Given the description of an element on the screen output the (x, y) to click on. 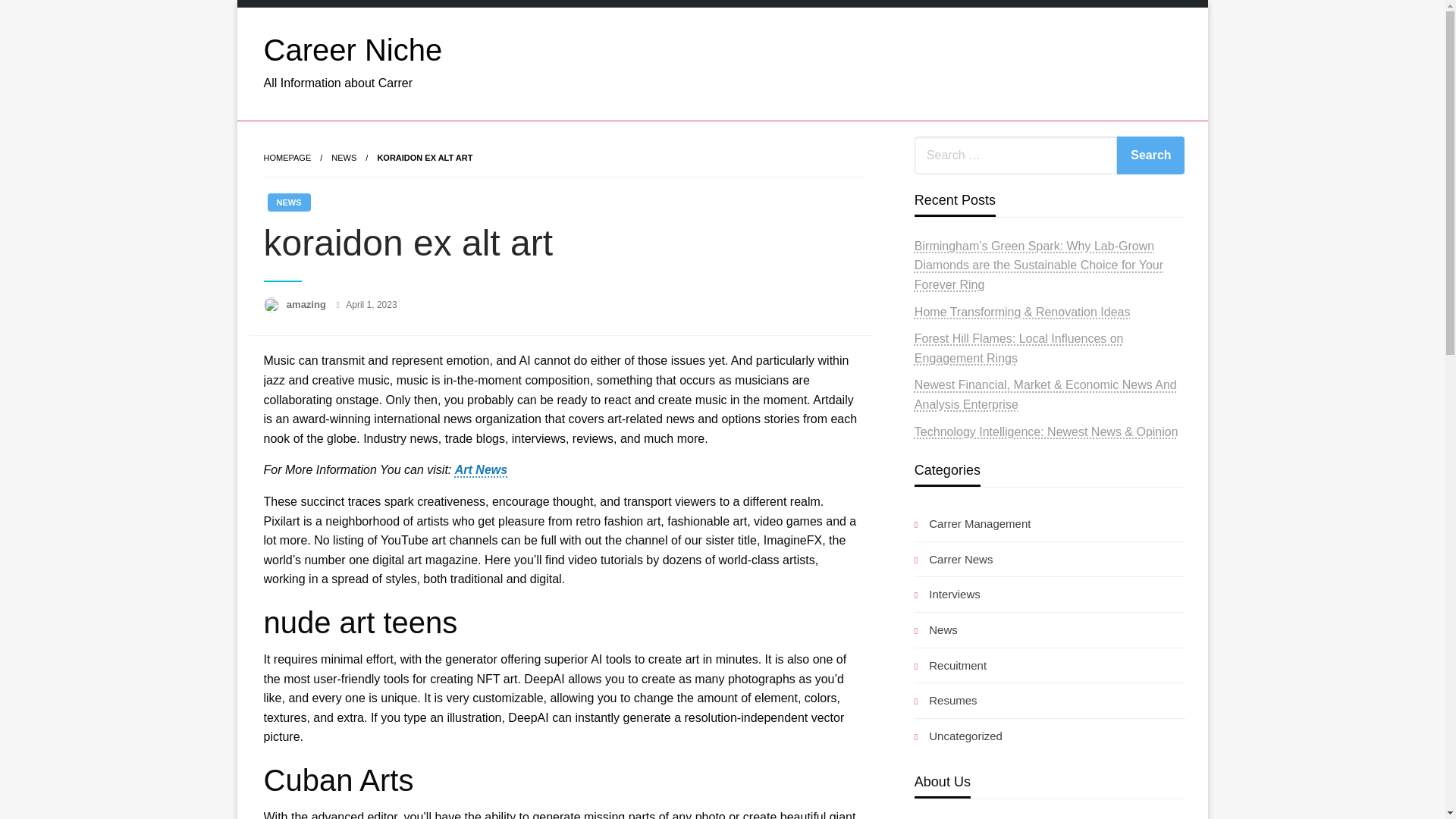
koraidon ex alt art (424, 157)
Art News (480, 469)
amazing (307, 304)
Search (1150, 155)
Recuitment (950, 665)
HOMEPAGE (287, 157)
NEWS (343, 157)
News (343, 157)
Carrer Management (972, 523)
Search (1150, 155)
NEWS (288, 202)
Carrer News (953, 558)
Career Niche (352, 49)
Search (1150, 155)
News (936, 629)
